Given the description of an element on the screen output the (x, y) to click on. 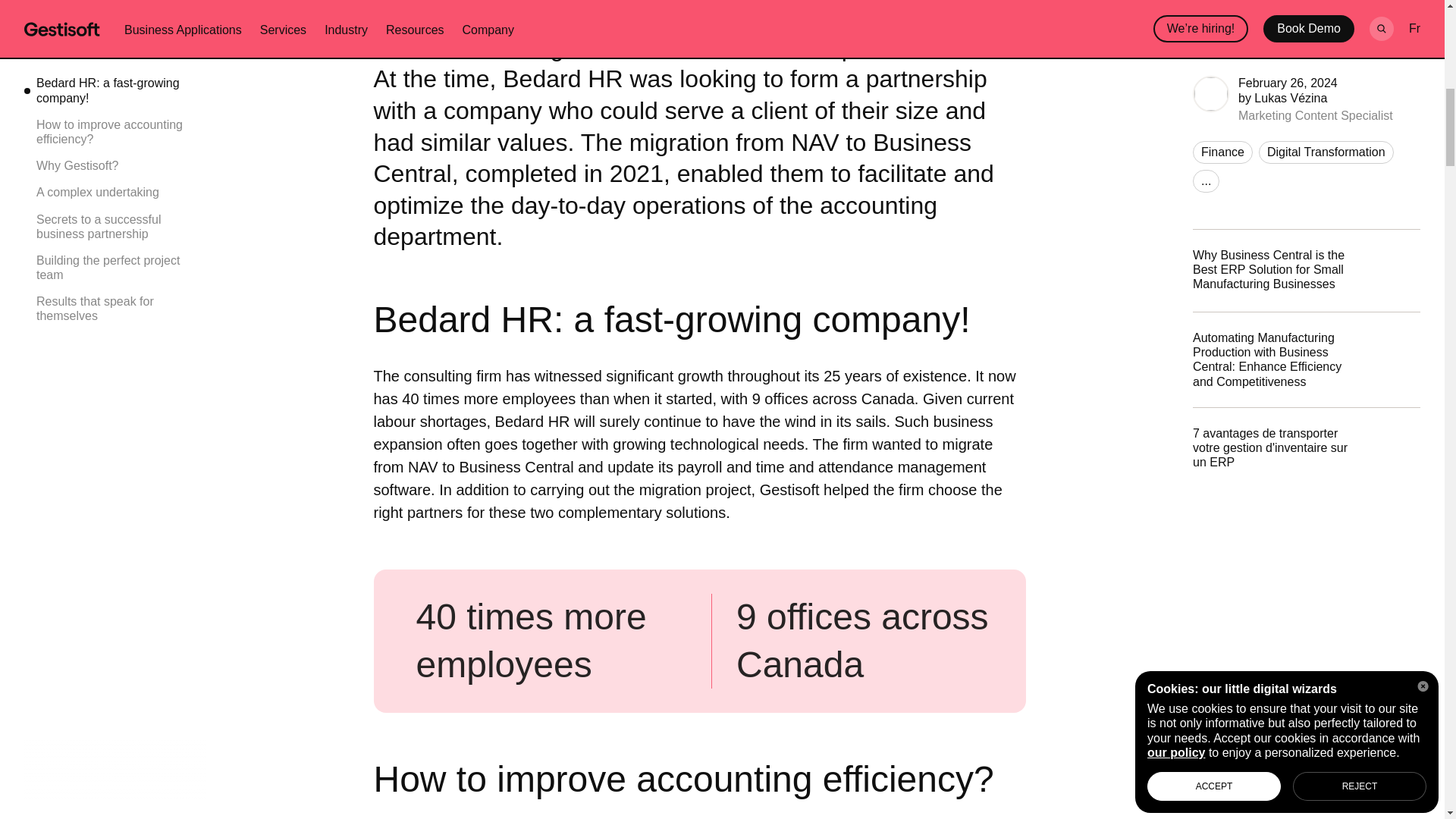
Why Gestisoft? (115, 1)
Secrets to a successful business partnership (115, 56)
Building the perfect project team (115, 97)
Results that speak for themselves (115, 138)
... (1206, 11)
